Given the description of an element on the screen output the (x, y) to click on. 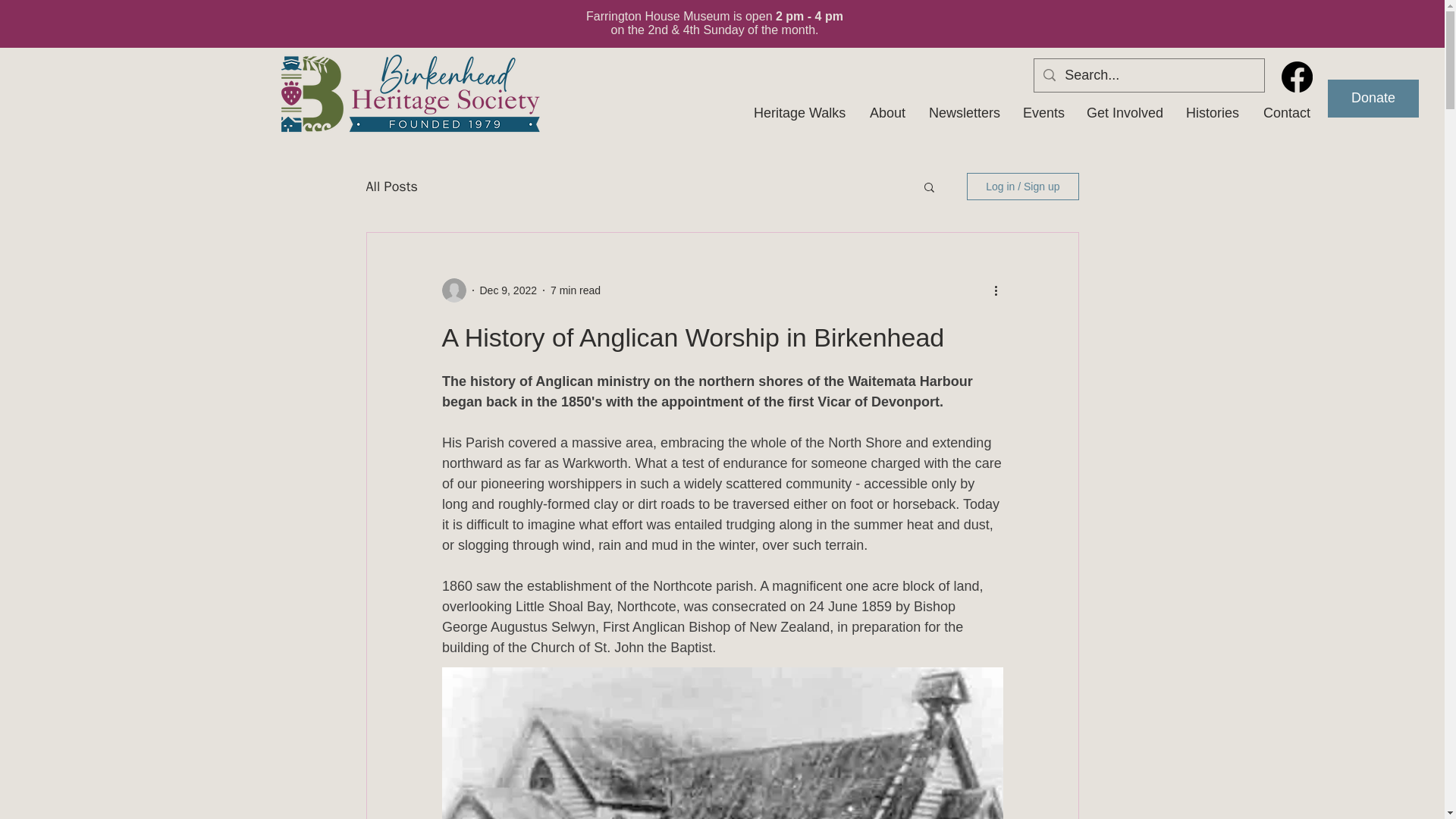
All Posts (390, 186)
Get Involved (1124, 112)
Heritage Walks (799, 112)
Events (1042, 112)
Histories (1212, 112)
Dec 9, 2022 (508, 289)
Donate (1372, 98)
About (886, 112)
7 min read (574, 289)
Contact (1286, 112)
Newsletters (964, 112)
